Given the description of an element on the screen output the (x, y) to click on. 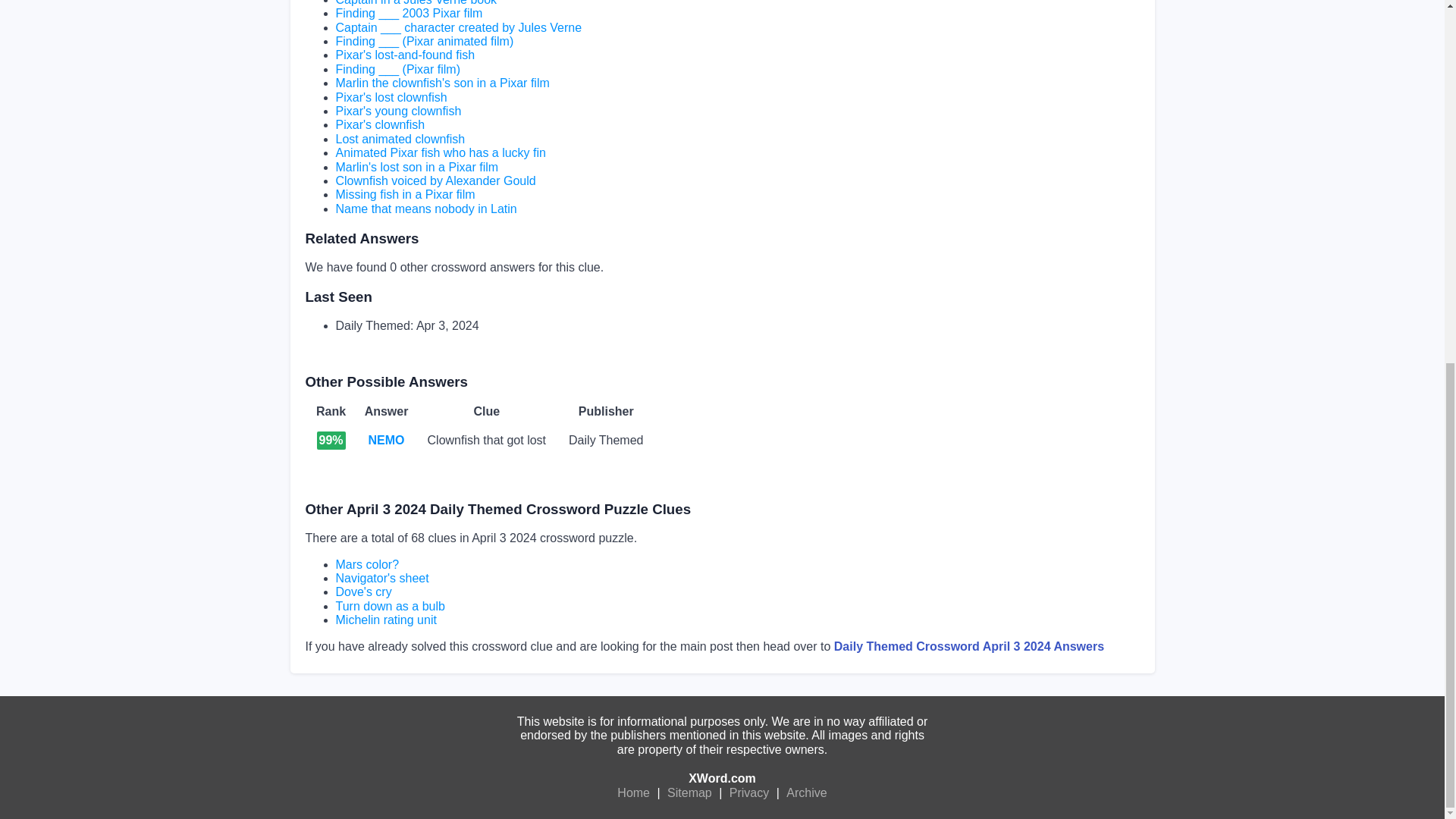
Michelin rating unit (384, 619)
Animated Pixar fish who has a lucky fin (439, 152)
Clownfish voiced by Alexander Gould (434, 180)
Turn down as a bulb (389, 605)
Name that means nobody in Latin (425, 208)
Pixar's lost clownfish (390, 97)
Lost animated clownfish (399, 138)
Pixar's young clownfish (397, 110)
Missing fish in a Pixar film (404, 194)
Marlin the clownfish's son in a Pixar film (441, 82)
XWord.com (721, 778)
Captain in a Jules Verne book (415, 2)
Marlin's lost son in a Pixar film (415, 166)
Sitemap (689, 792)
Daily Themed Crossword April 3 2024 Answers (968, 645)
